Given the description of an element on the screen output the (x, y) to click on. 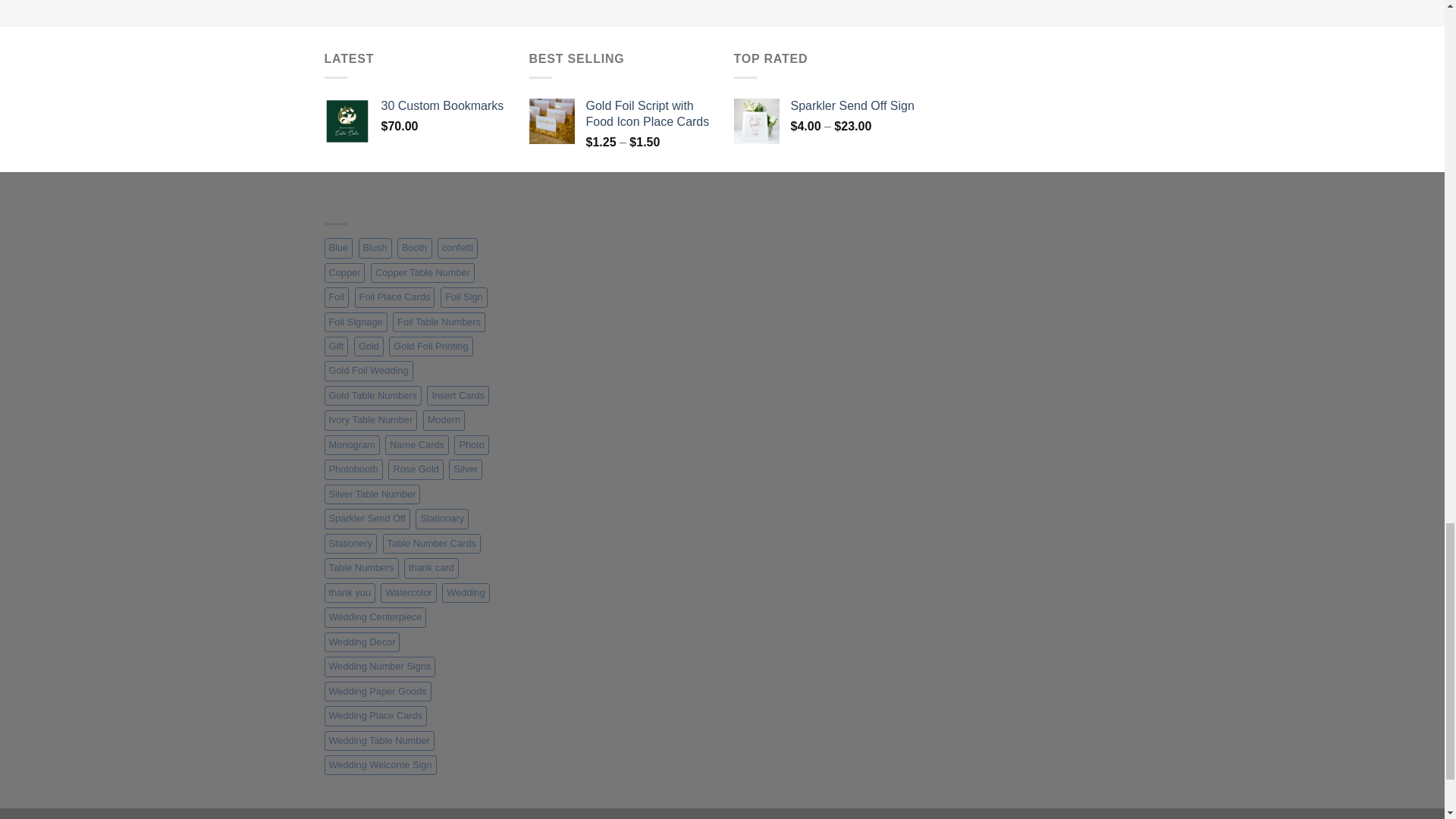
confetti (457, 247)
Booth (413, 247)
Blush (374, 247)
30 Custom Bookmarks (442, 106)
Copper Table Number (422, 272)
Gold Foil Script with Food Icon Place Cards (647, 114)
Sparkler Send Off Sign (852, 106)
Blue (338, 247)
Copper (344, 272)
